Given the description of an element on the screen output the (x, y) to click on. 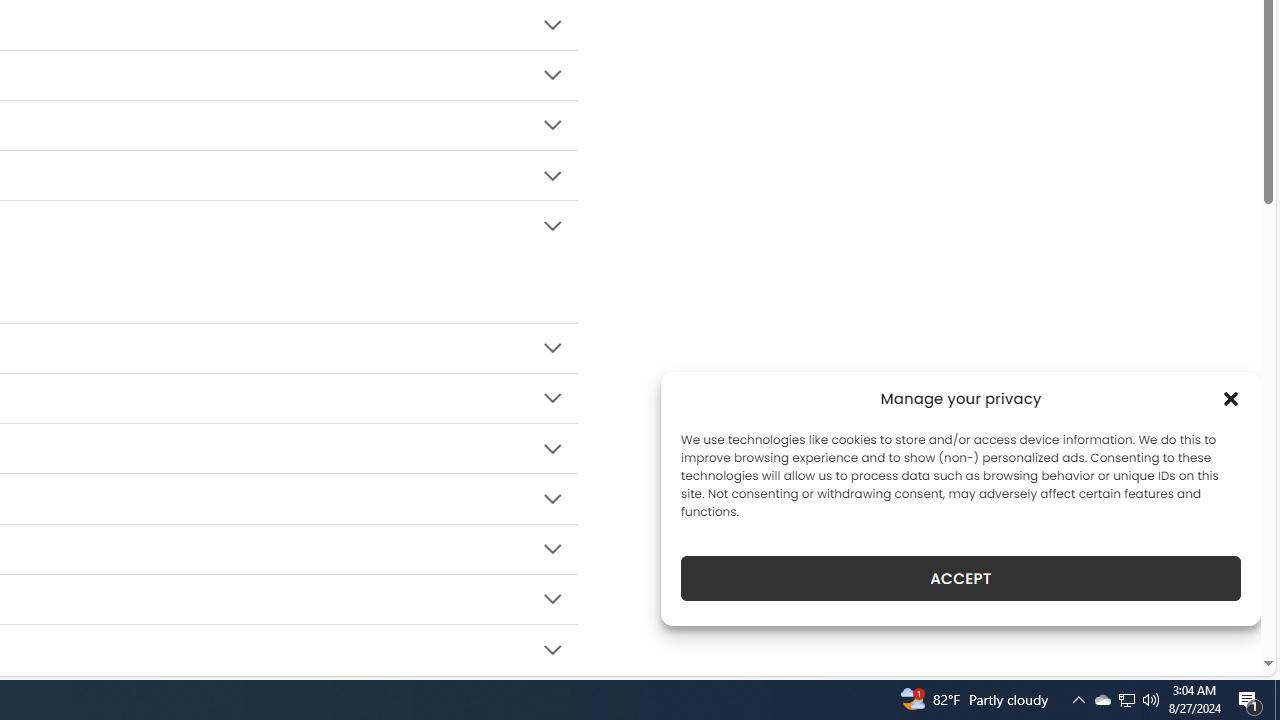
Class: cmplz-close (1231, 398)
ACCEPT (960, 578)
